Given the description of an element on the screen output the (x, y) to click on. 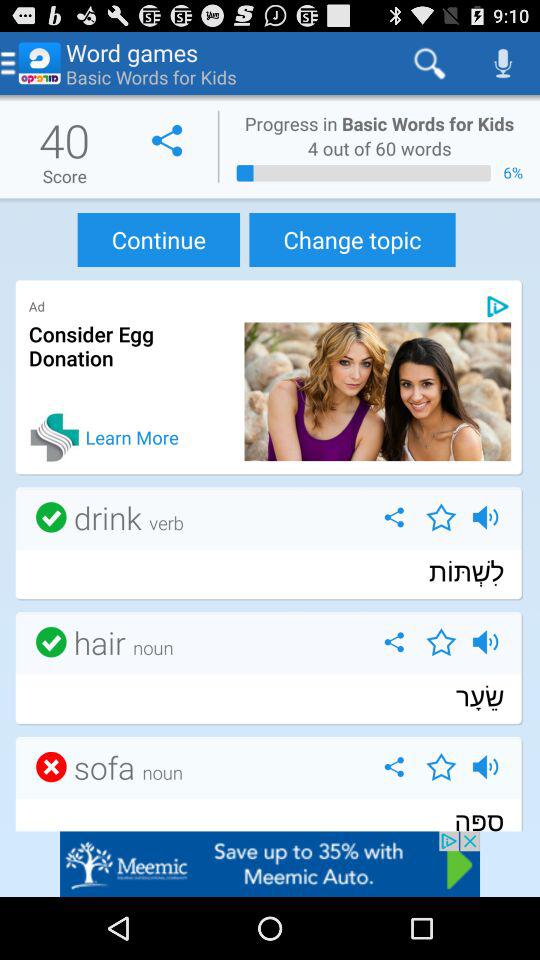
learn more icon (54, 437)
